Given the description of an element on the screen output the (x, y) to click on. 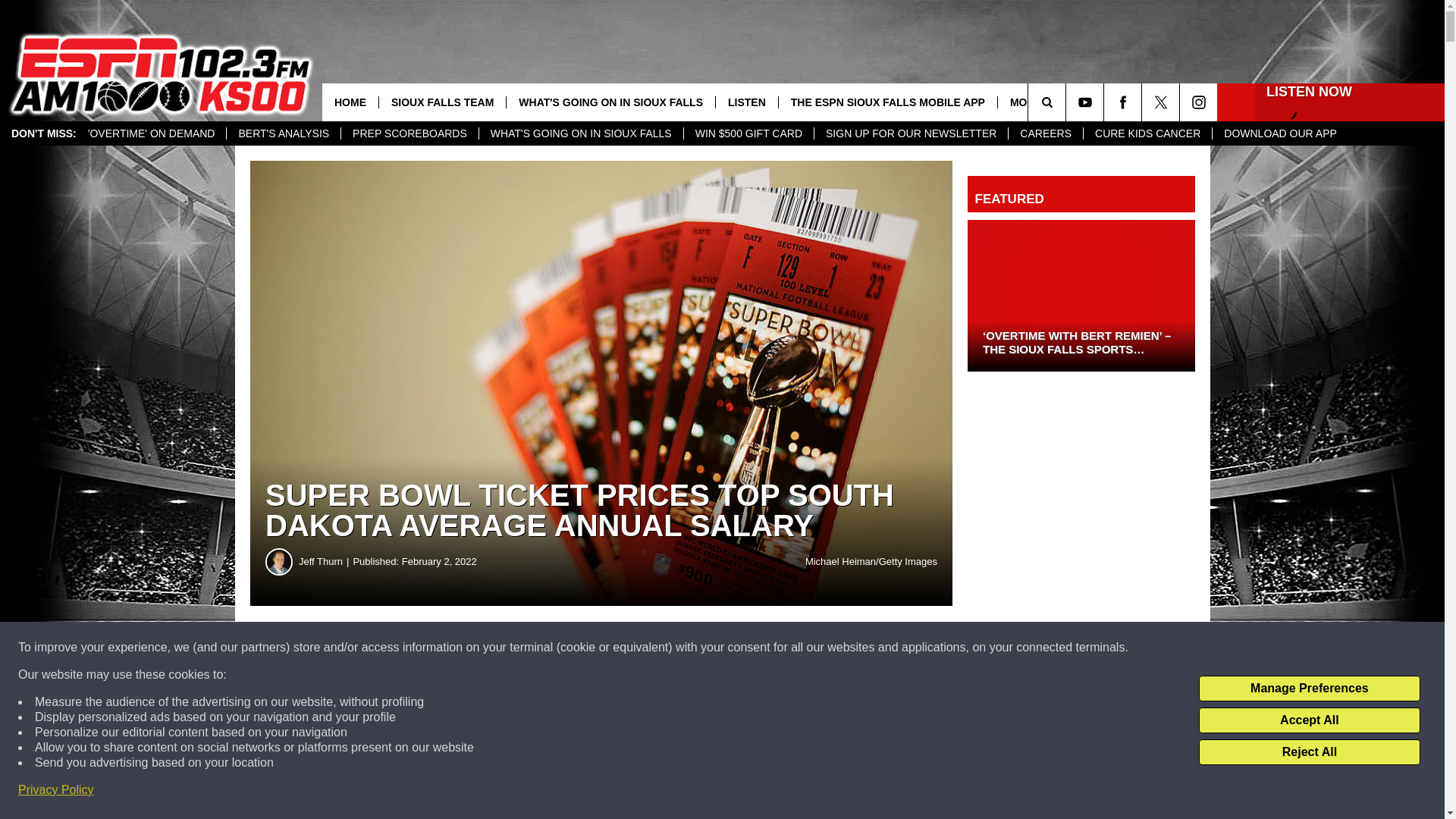
Privacy Policy (55, 789)
SIGN UP FOR OUR NEWSLETTER (910, 133)
LISTEN (745, 102)
'OVERTIME' ON DEMAND (152, 133)
Manage Preferences (1309, 688)
WHAT'S GOING ON IN SIOUX FALLS (580, 133)
PREP SCOREBOARDS (409, 133)
SEARCH (1068, 102)
Share on Twitter (741, 647)
WHAT'S GOING ON IN SIOUX FALLS (609, 102)
